Given the description of an element on the screen output the (x, y) to click on. 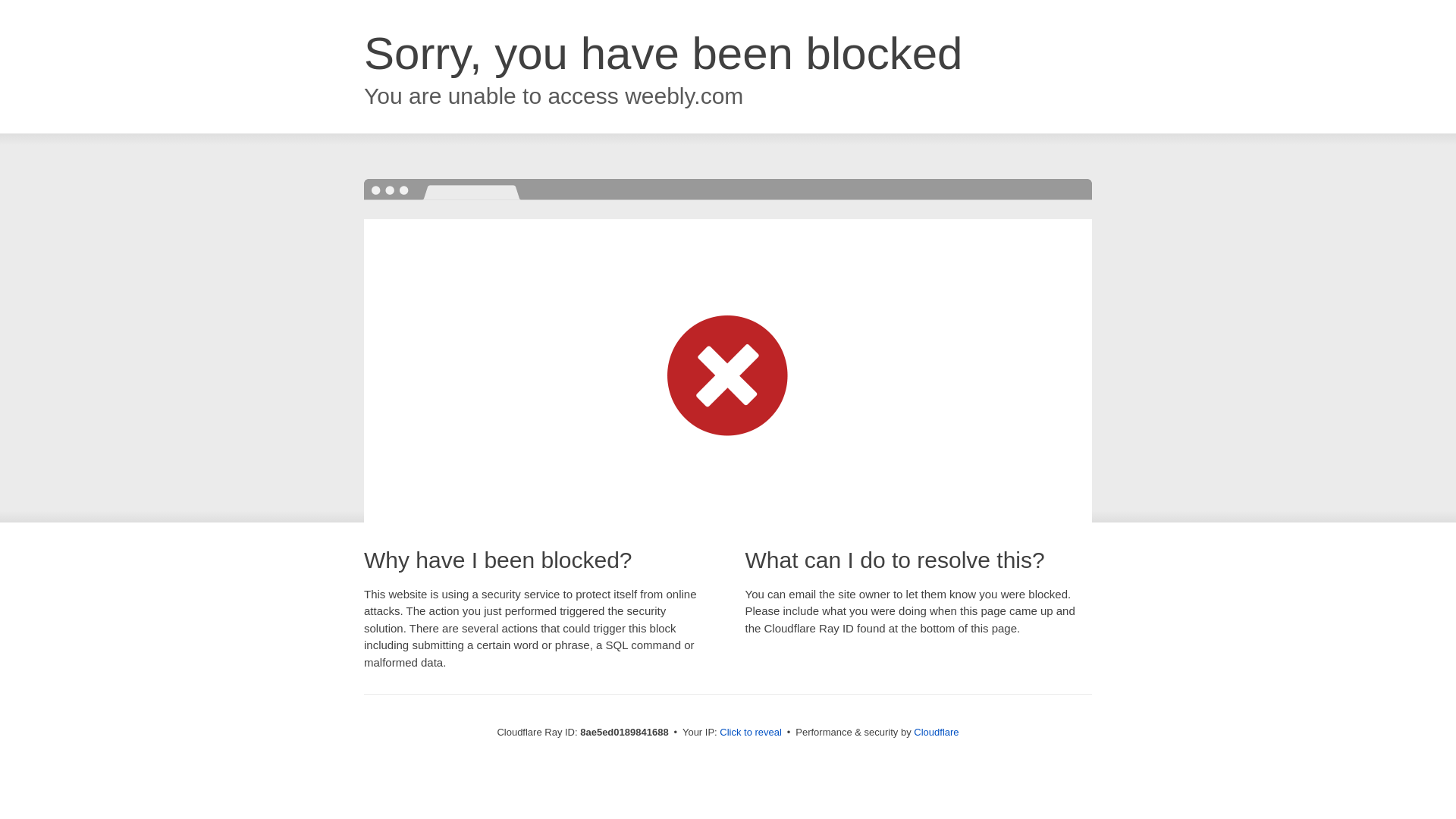
Click to reveal (750, 732)
Cloudflare (936, 731)
